Given the description of an element on the screen output the (x, y) to click on. 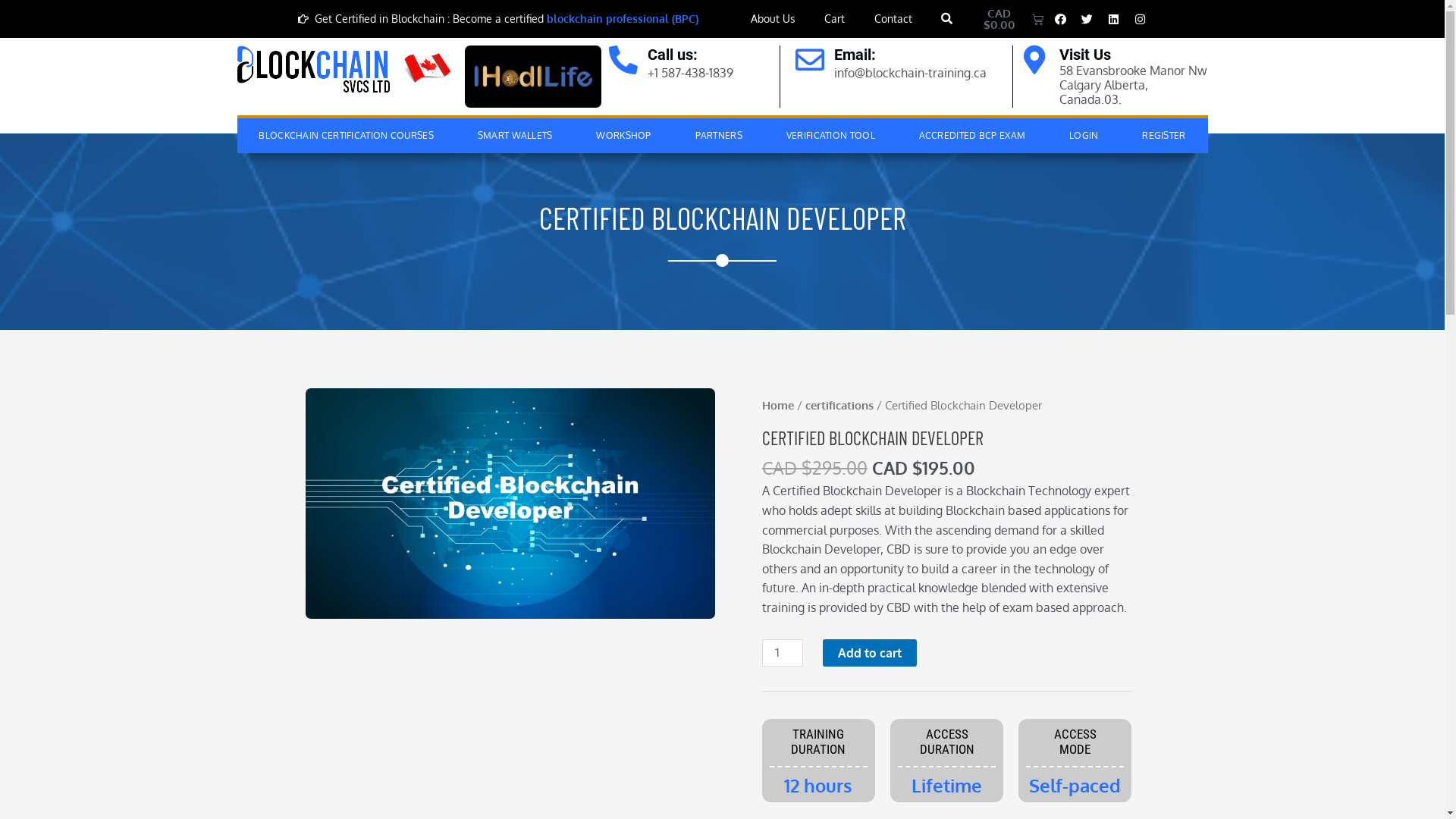
LOGIN Element type: text (1083, 135)
Add to cart Element type: text (869, 652)
Email: Element type: text (854, 54)
SMART WALLETS Element type: text (514, 135)
certifications Element type: text (839, 404)
BLOCKCHAIN CERTIFICATION COURSES Element type: text (345, 135)
ACCREDITED BCP EXAM Element type: text (972, 135)
PARTNERS Element type: text (718, 135)
blockchain professional (BPC) Element type: text (622, 18)
Instagram Element type: text (1140, 18)
Linkedin Element type: text (1113, 18)
REGISTER Element type: text (1163, 135)
Call us: Element type: text (672, 54)
CAD $0.00
Cart Element type: text (1006, 18)
Twitter Element type: text (1087, 18)
Home Element type: text (777, 404)
About Us Element type: text (773, 18)
Facebook Element type: text (1060, 18)
VERIFICATION TOOL Element type: text (830, 135)
Cart Element type: text (834, 18)
Contact Element type: text (892, 18)
WORKSHOP Element type: text (623, 135)
